Given the description of an element on the screen output the (x, y) to click on. 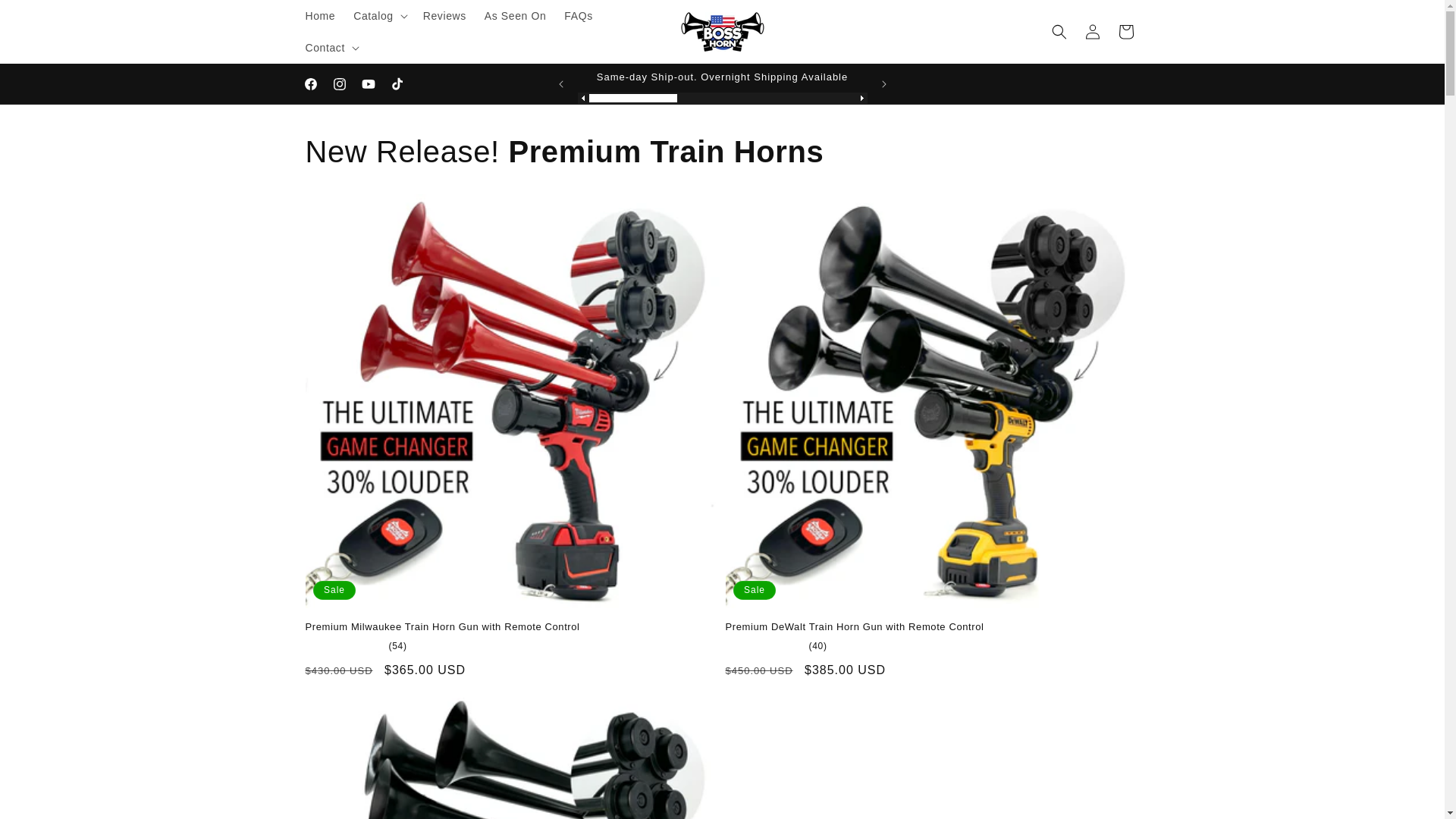
Reviews (444, 15)
Skip to content (47, 18)
As Seen On (516, 15)
Home (319, 15)
